Given the description of an element on the screen output the (x, y) to click on. 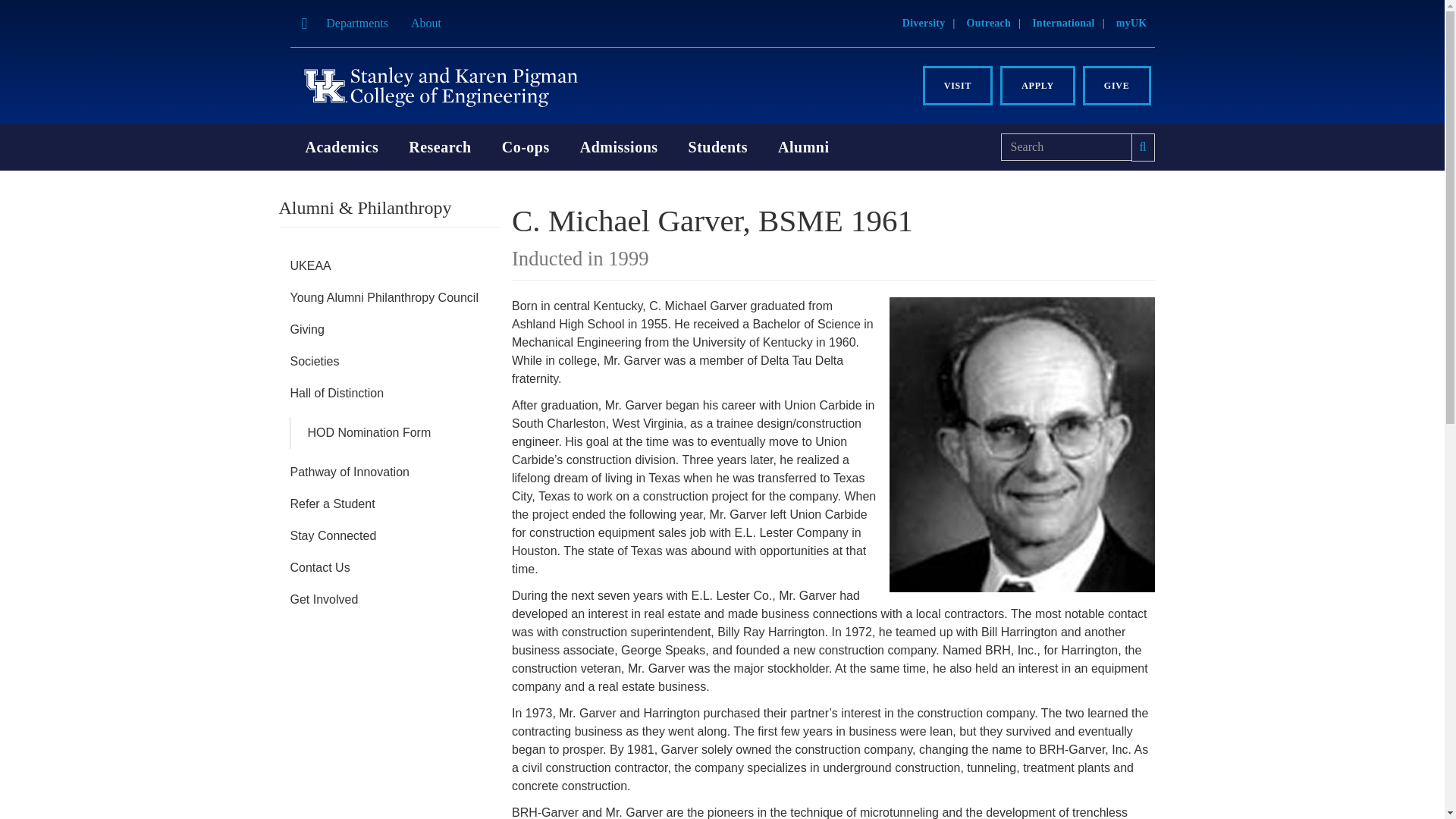
myUK (1131, 23)
APPLY (1037, 85)
Diversity (923, 23)
About (425, 22)
Departments (356, 22)
Enter the terms you wish to search for. (1066, 146)
GIVE (1117, 85)
VISIT (957, 85)
Outreach (988, 23)
